Given the description of an element on the screen output the (x, y) to click on. 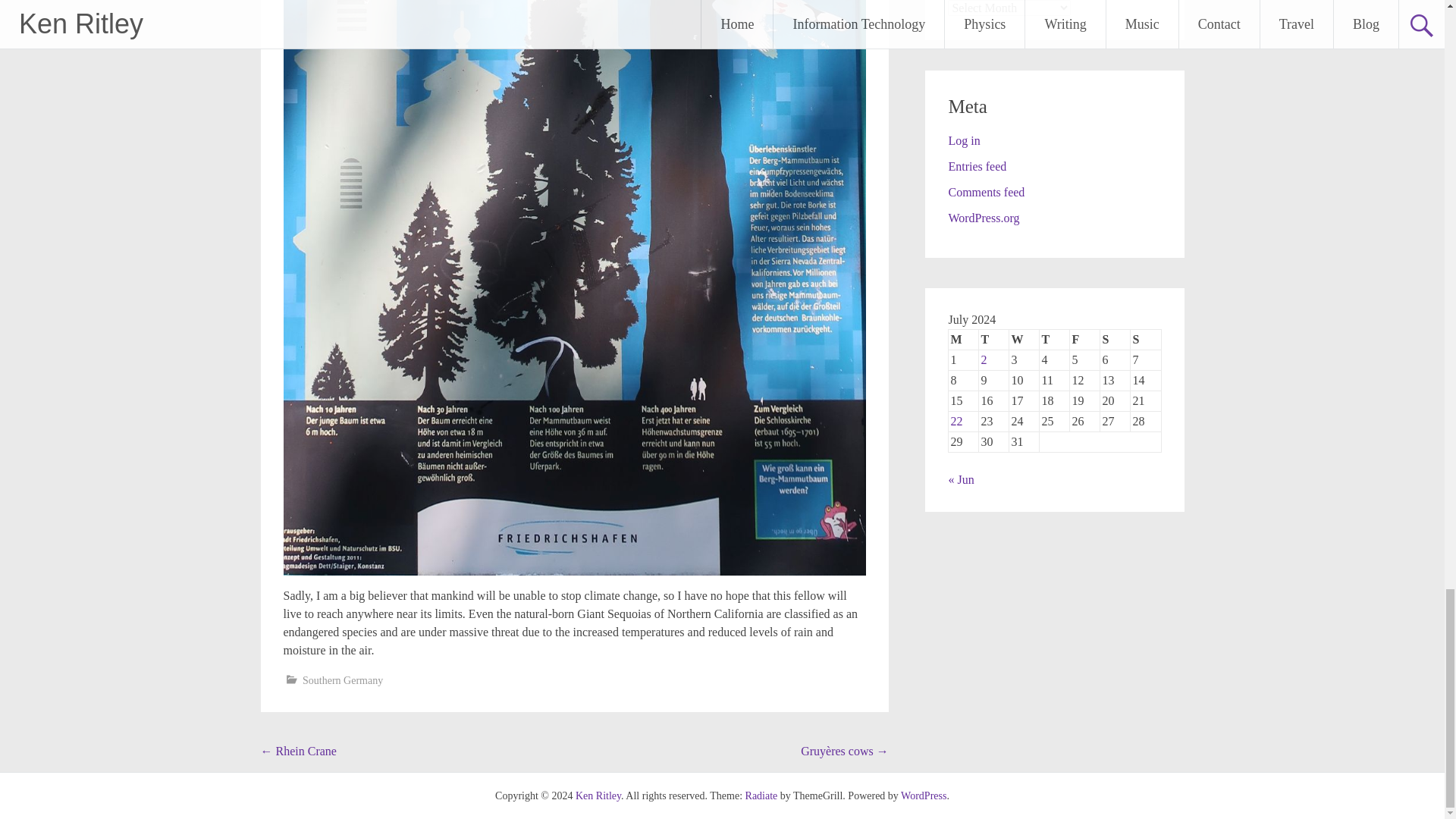
Tuesday (993, 340)
Sunday (1145, 340)
Ken Ritley (598, 795)
Thursday (1054, 340)
Radiate (761, 795)
Monday (963, 340)
Saturday (1115, 340)
Friday (1085, 340)
Wednesday (1024, 340)
WordPress (923, 795)
